Given the description of an element on the screen output the (x, y) to click on. 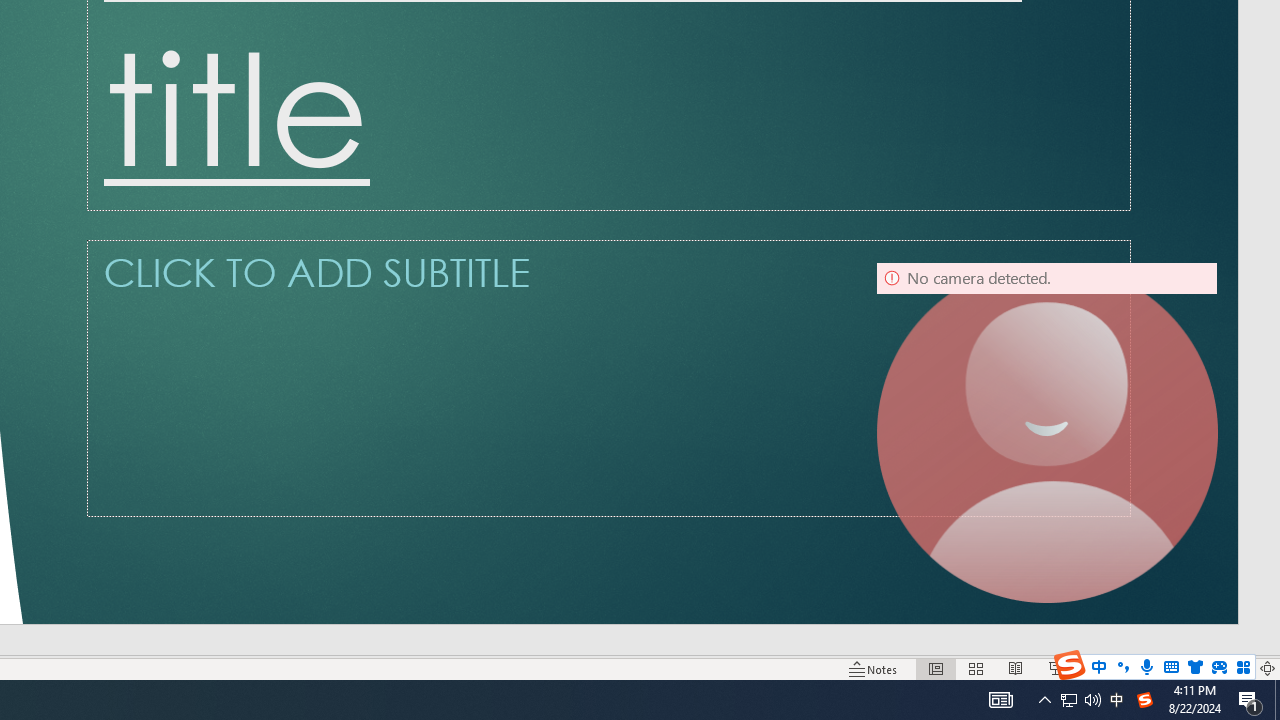
Zoom 161% (1234, 668)
